Given the description of an element on the screen output the (x, y) to click on. 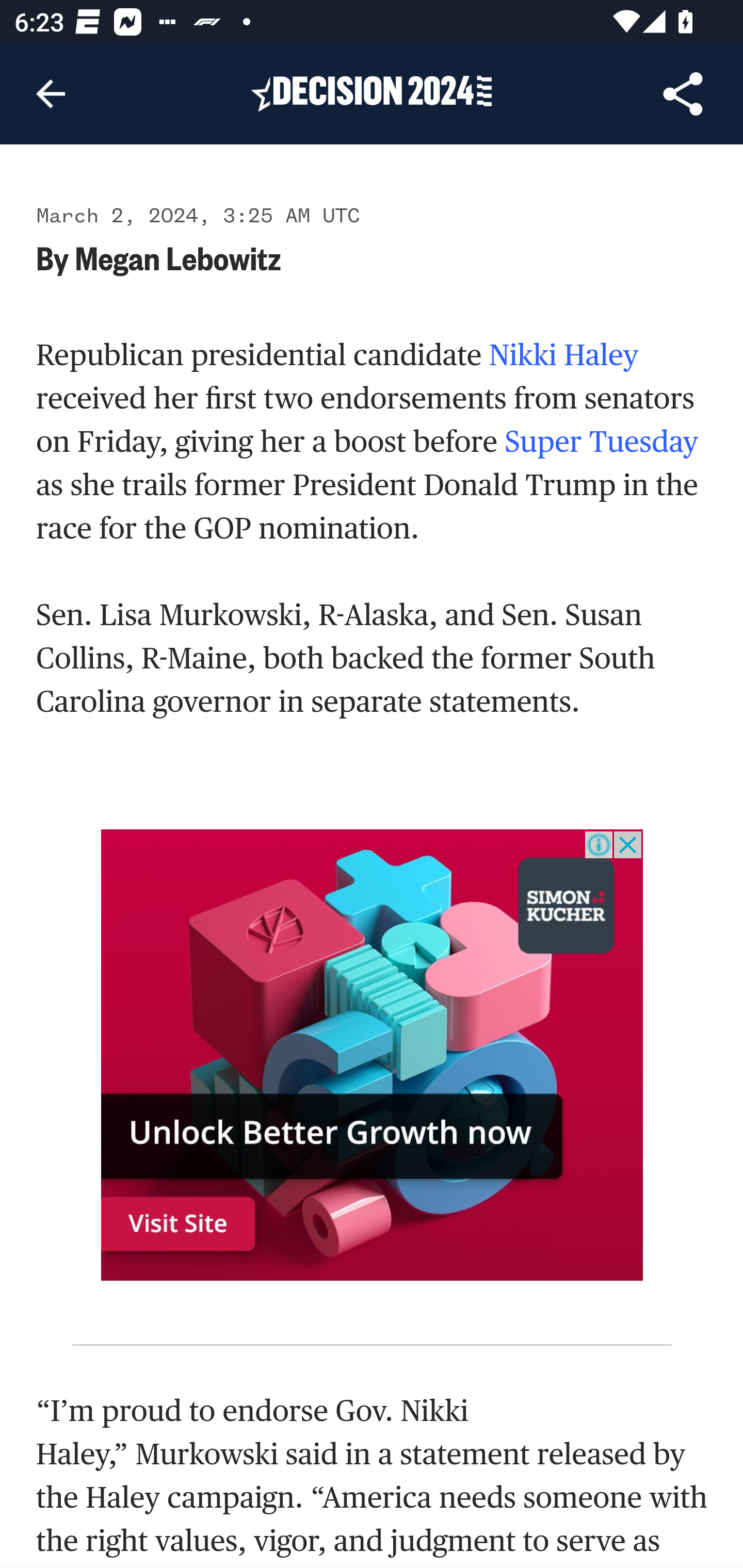
Navigate up (50, 93)
Share Article, button (683, 94)
Header, Decision 2024 (371, 93)
Nikki Haley (562, 355)
Super Tuesday (600, 441)
